Given the description of an element on the screen output the (x, y) to click on. 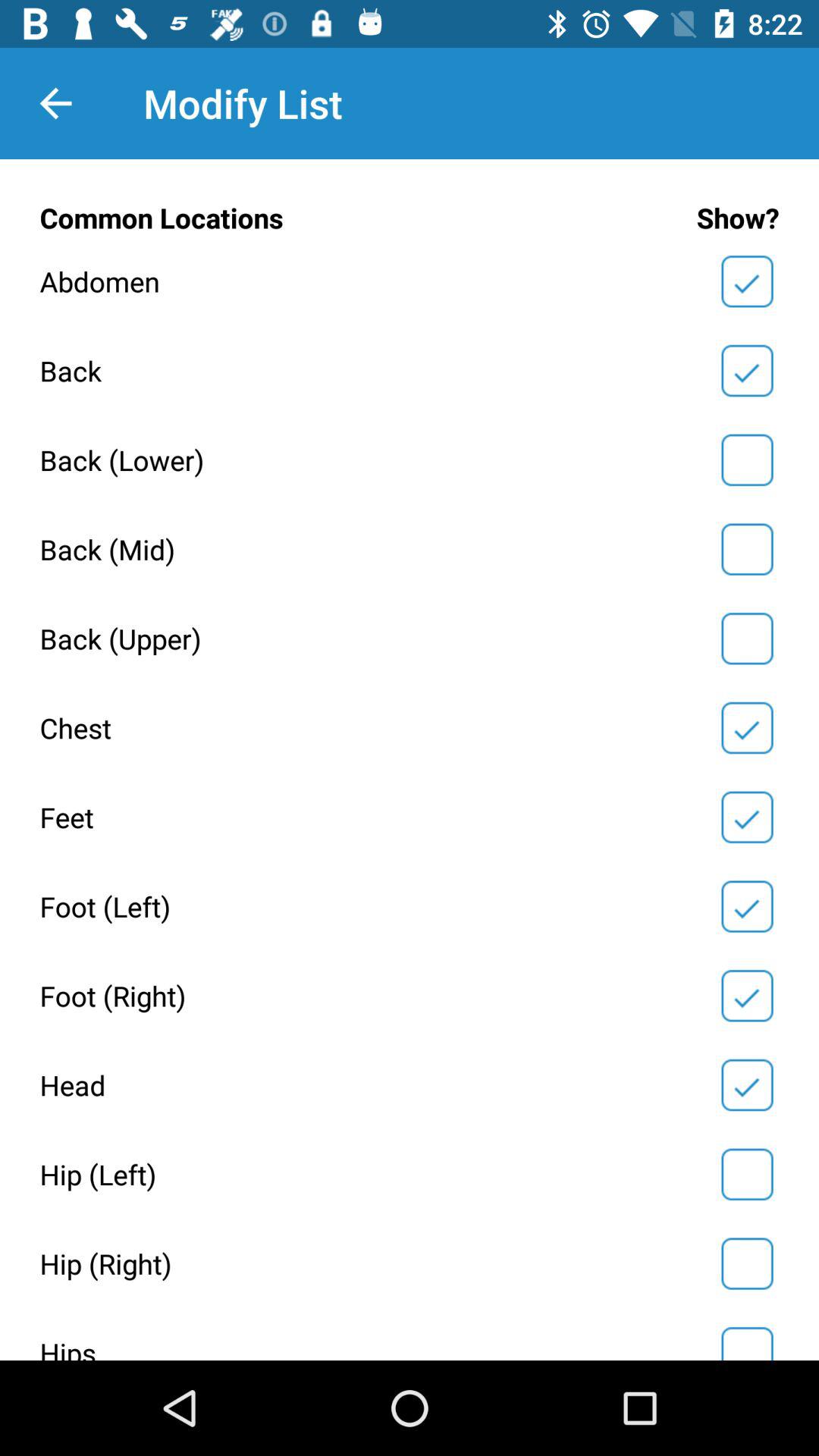
box to select hips (747, 1340)
